Given the description of an element on the screen output the (x, y) to click on. 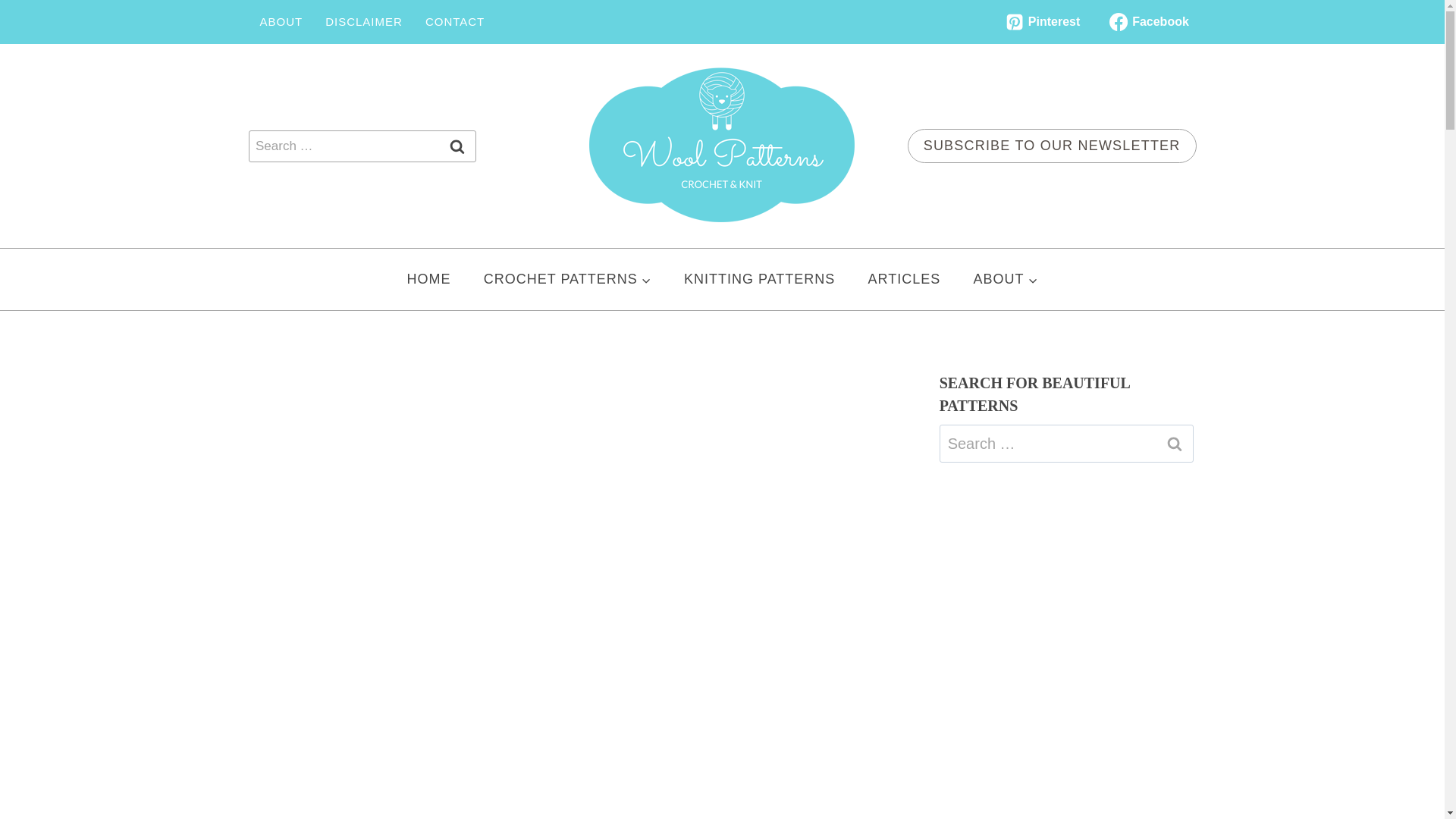
ABOUT (281, 21)
DISCLAIMER (363, 21)
CROCHET PATTERNS (566, 279)
ABOUT (1005, 279)
Search (1174, 443)
CONTACT (454, 21)
Search (457, 146)
Search (457, 146)
Facebook (1148, 22)
Search (1174, 443)
